Given the description of an element on the screen output the (x, y) to click on. 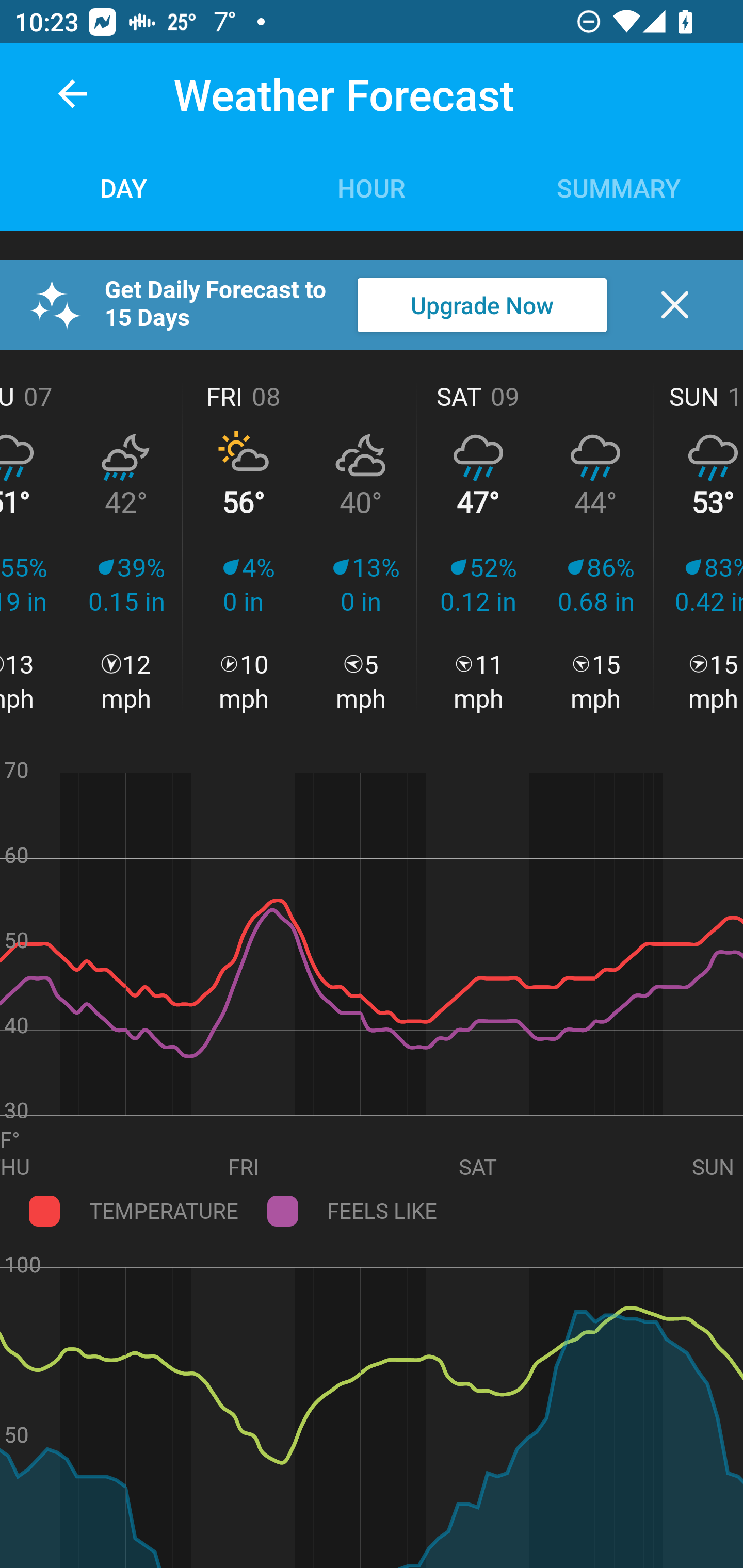
back (71, 93)
Hour Tab HOUR (371, 187)
Summary Tab SUMMARY (619, 187)
Upgrade Now (482, 304)
